Given the description of an element on the screen output the (x, y) to click on. 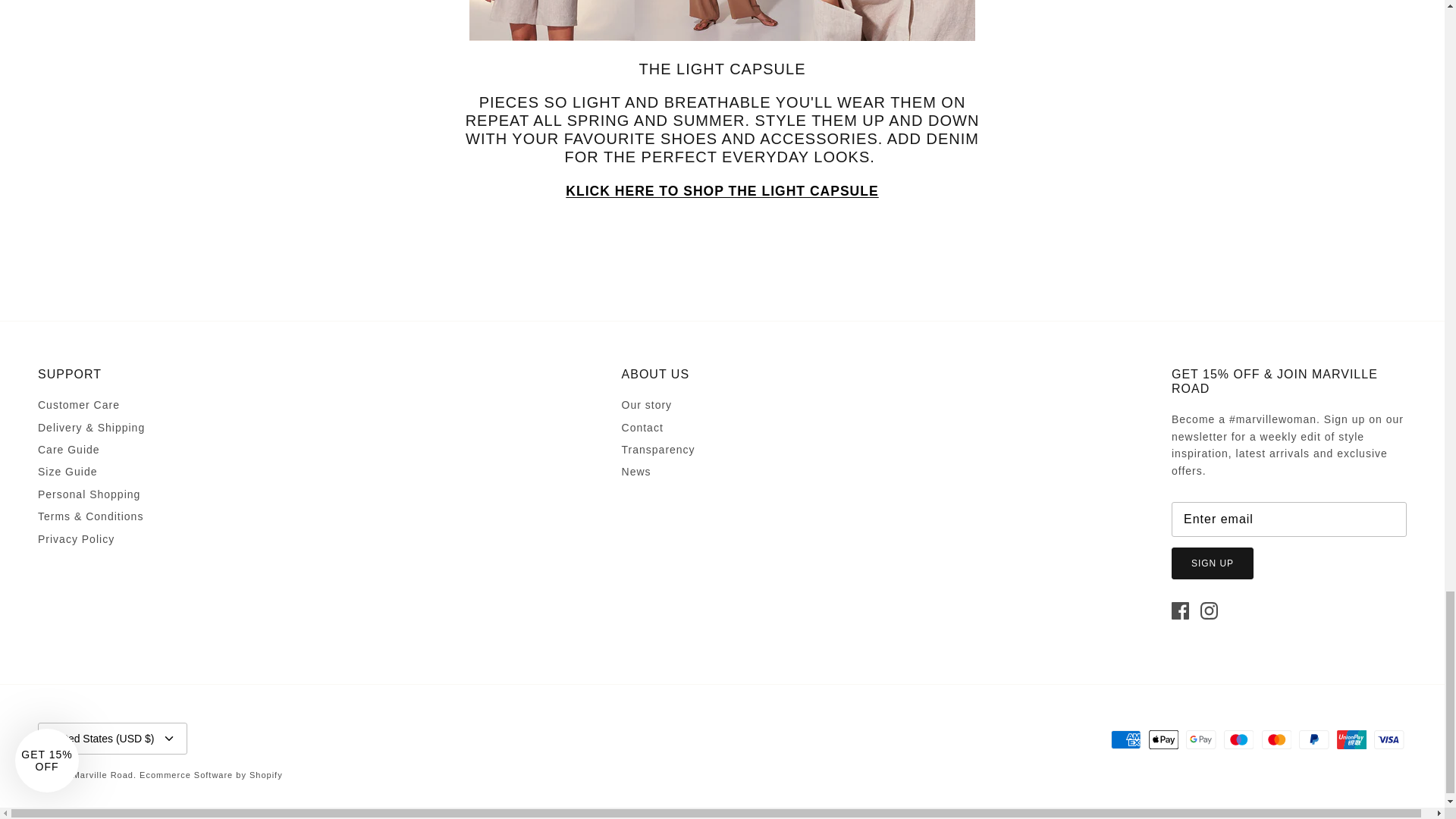
PayPal (1313, 739)
Union Pay (1351, 739)
Facebook (1180, 610)
Maestro (1238, 739)
Visa (1388, 739)
American Express (1125, 739)
Instagram (1208, 610)
Mastercard (1276, 739)
Apple Pay (1163, 739)
Down (168, 738)
Google Pay (1200, 739)
